Given the description of an element on the screen output the (x, y) to click on. 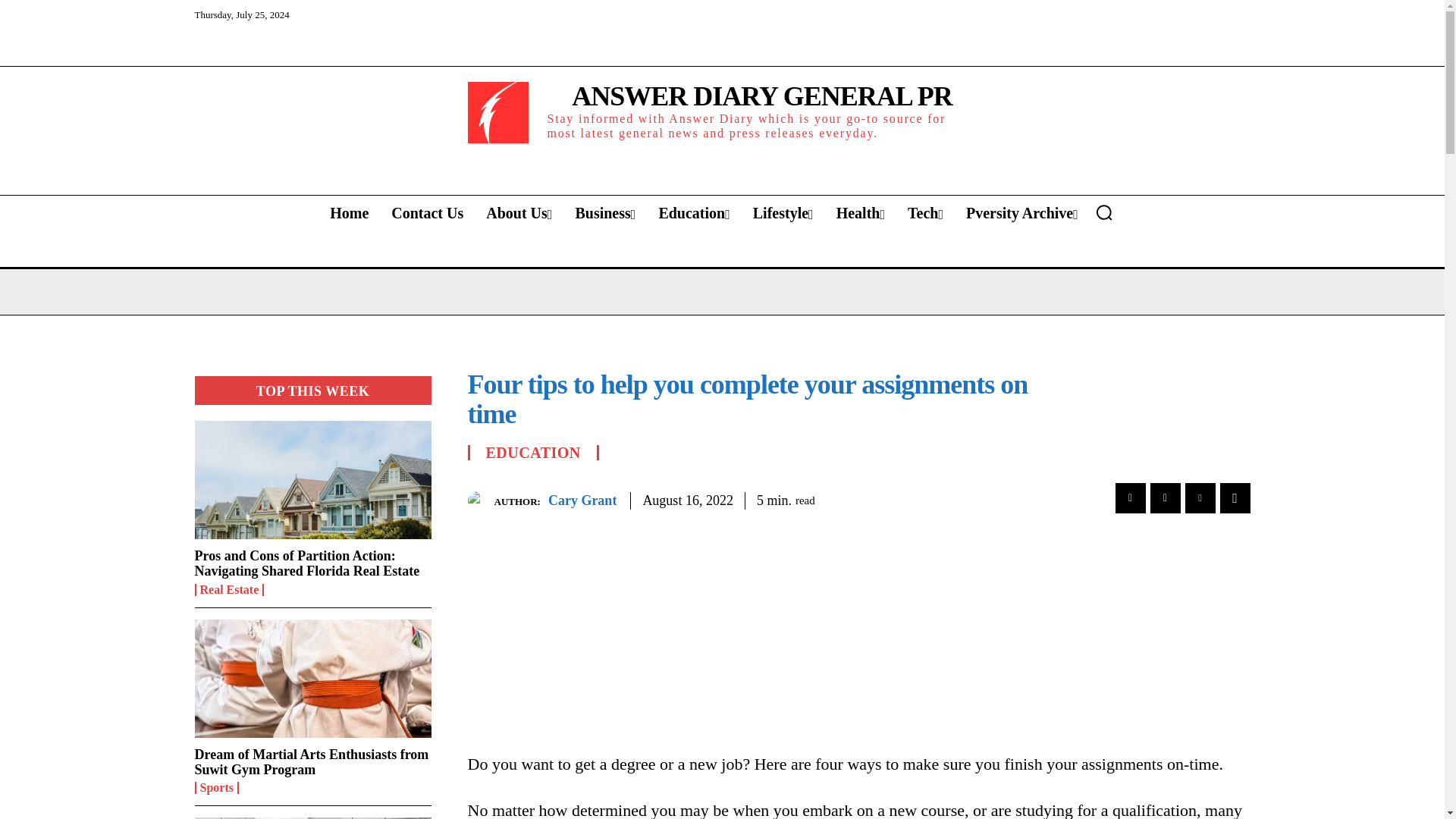
Dream of Martial Arts Enthusiasts from Suwit Gym Program (311, 678)
Answer Diary 2024 (497, 112)
Answer Diary 2024 (721, 112)
Dream of Martial Arts Enthusiasts from Suwit Gym Program (310, 761)
